Given the description of an element on the screen output the (x, y) to click on. 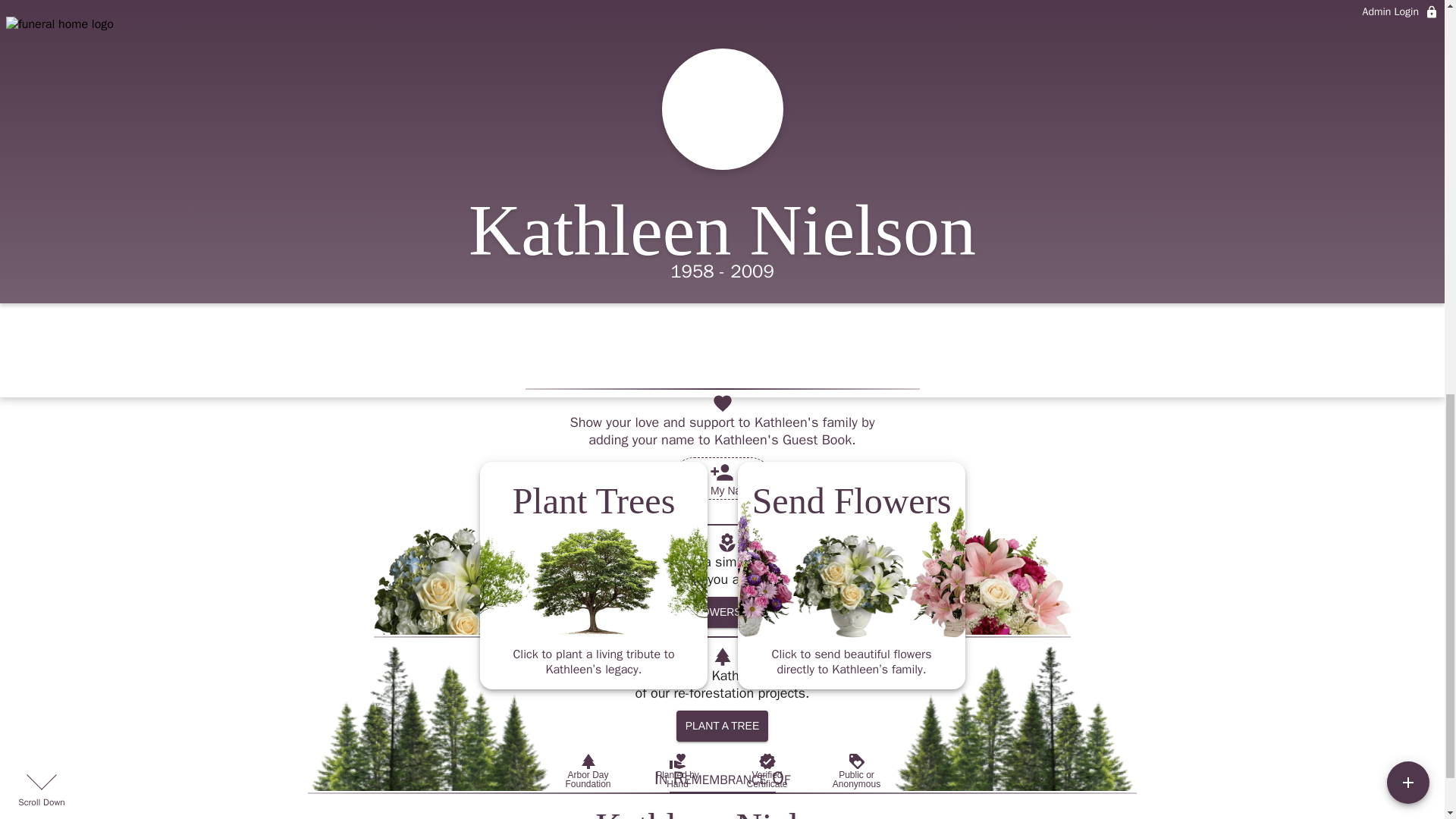
SEND FLOWERS TO FAMILY (727, 612)
Public or Anonymous (855, 770)
Upload Photos of Kathleen (959, 12)
Arbor Day Foundation (587, 770)
Planted by Hand (676, 770)
Verified Certificate (766, 770)
PLANT A TREE (722, 726)
Add My Name (721, 478)
